Given the description of an element on the screen output the (x, y) to click on. 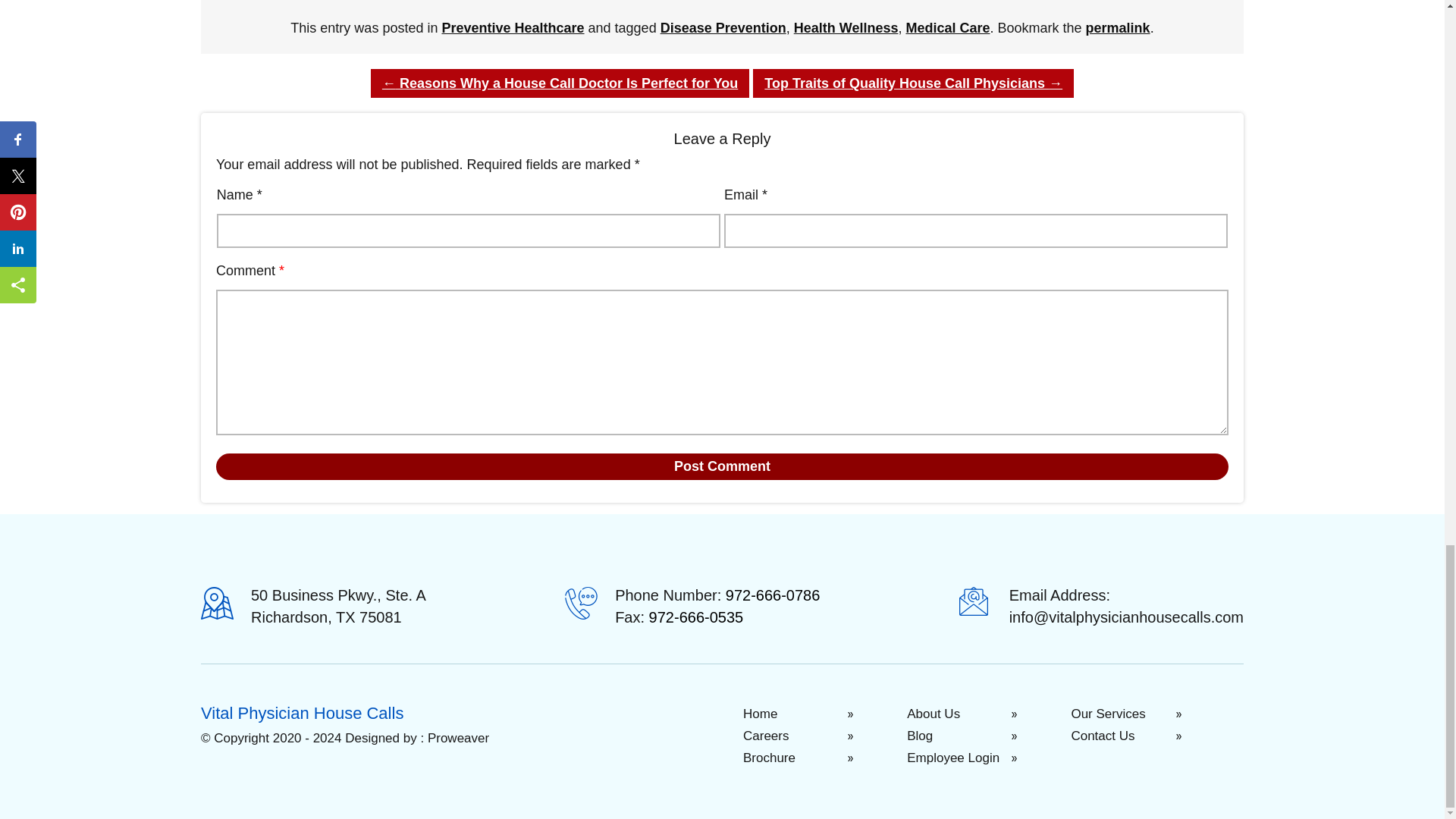
Medical Care (947, 28)
Proweaver (458, 738)
Health Wellness (845, 28)
Post Comment (721, 466)
Post Comment (721, 466)
Preventive Healthcare (512, 28)
About Us (987, 713)
Permalink to Reasons Why Preventive Healthcare Is Good (1118, 28)
Home (822, 713)
permalink (1118, 28)
Disease Prevention (723, 28)
